Given the description of an element on the screen output the (x, y) to click on. 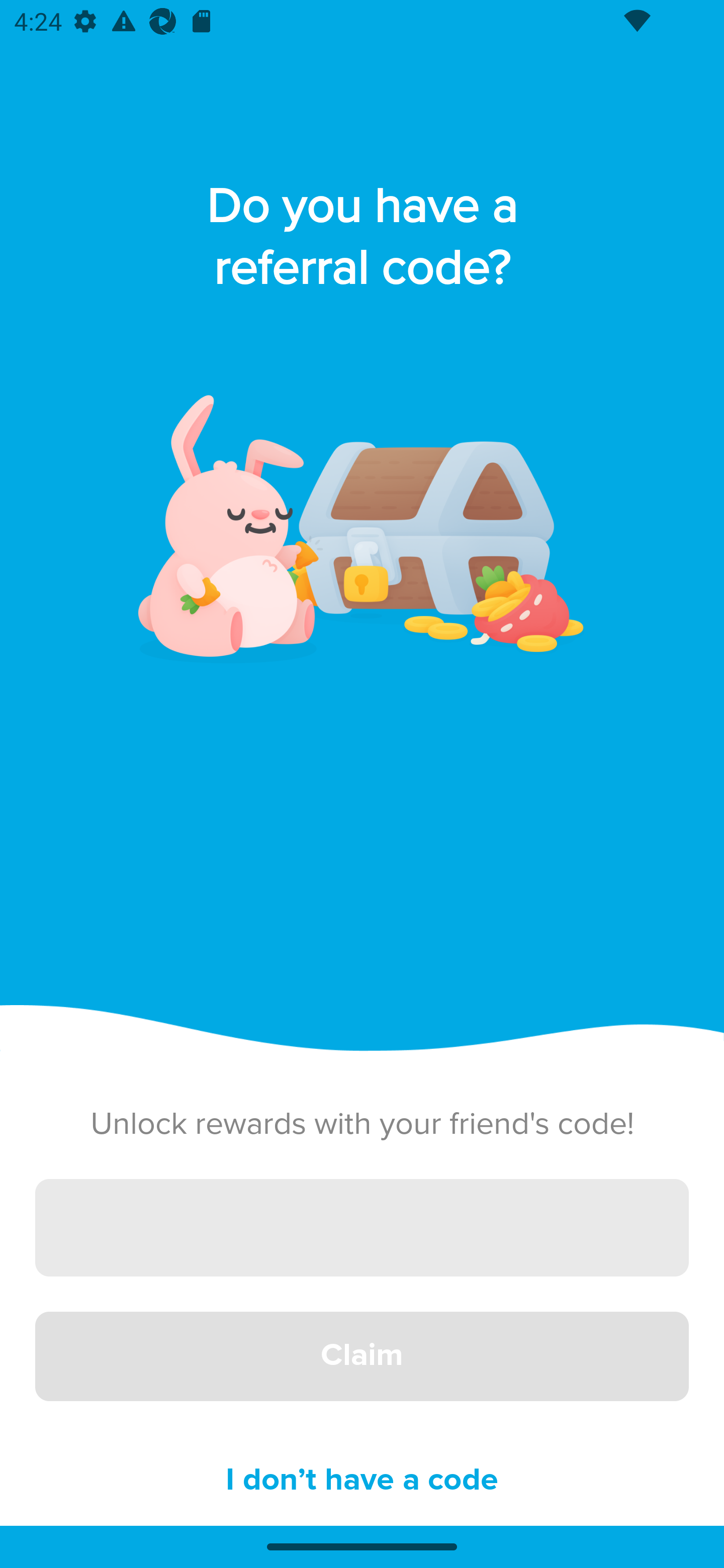
Paste your code here (361, 1227)
‍Claim (361, 1356)
‍I don’t have a code (361, 1480)
